Given the description of an element on the screen output the (x, y) to click on. 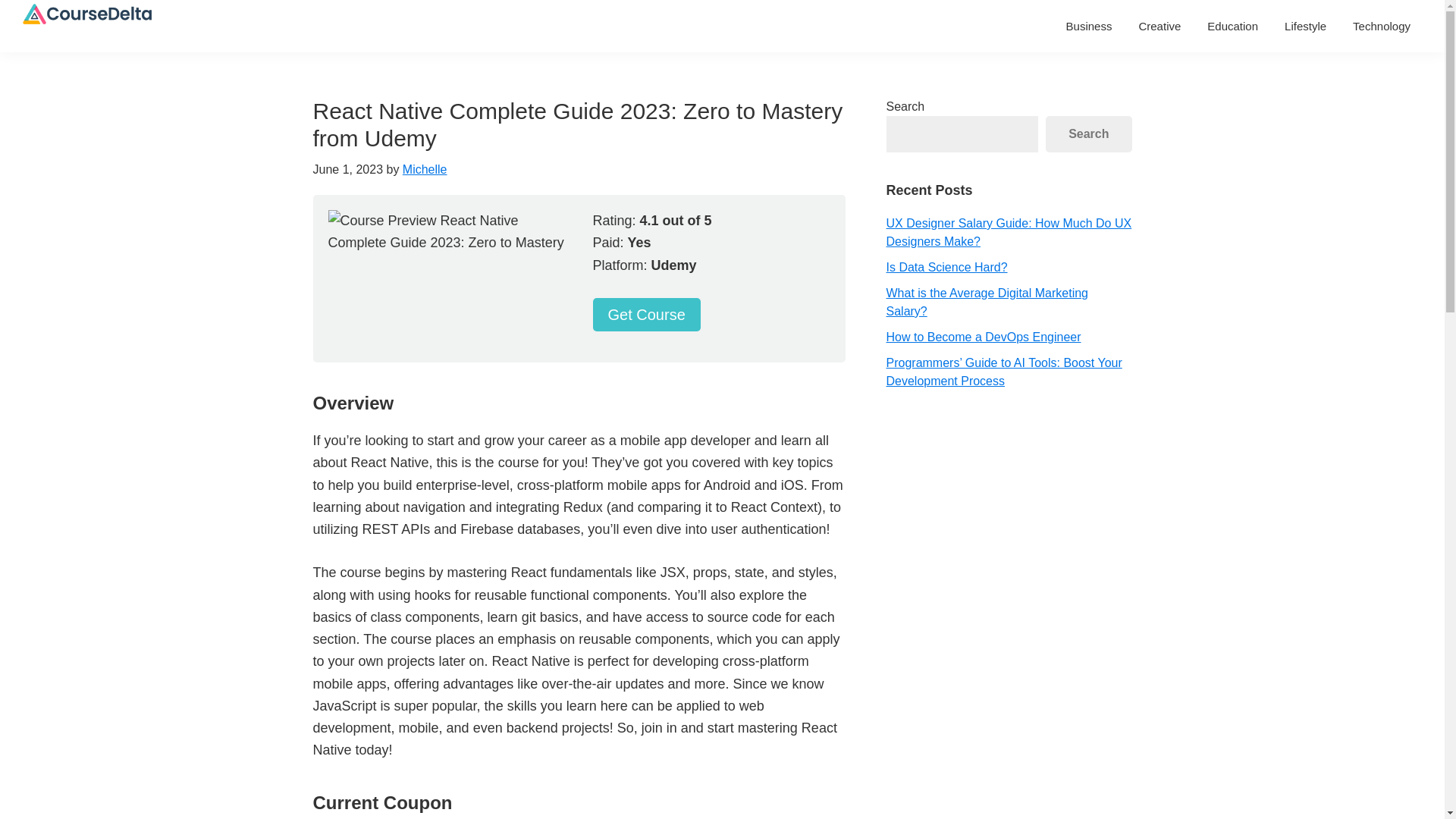
Technology (1381, 25)
UX Designer Salary Guide: How Much Do UX Designers Make? (1008, 232)
Is Data Science Hard? (946, 267)
Lifestyle (1305, 25)
What is the Average Digital Marketing Salary? (986, 301)
Michelle (424, 169)
Search (1088, 134)
Education (1232, 25)
Creative (1159, 25)
Get Course (646, 314)
Business (1089, 25)
How to Become a DevOps Engineer (982, 336)
